Given the description of an element on the screen output the (x, y) to click on. 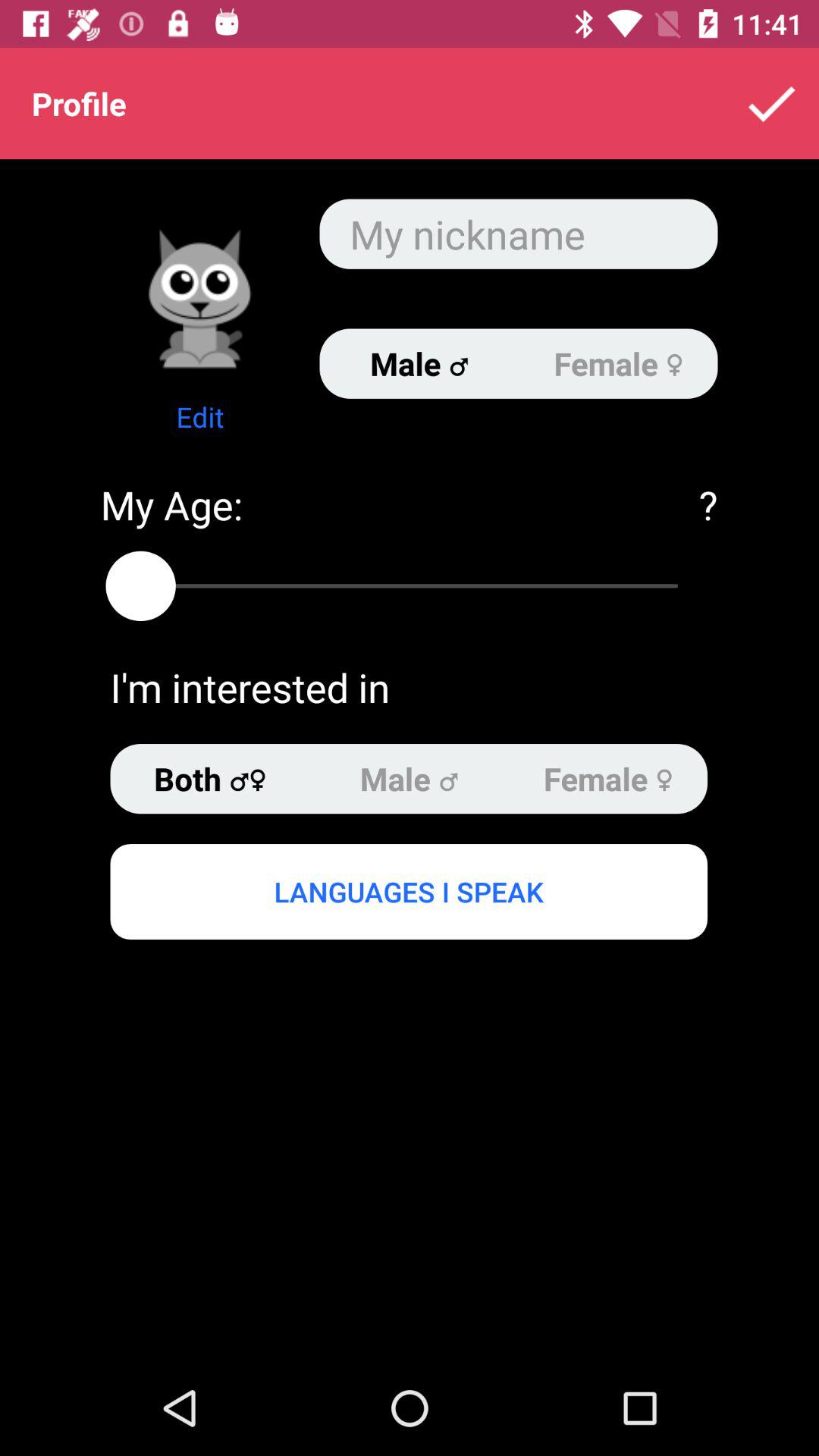
open item below profile (199, 298)
